Given the description of an element on the screen output the (x, y) to click on. 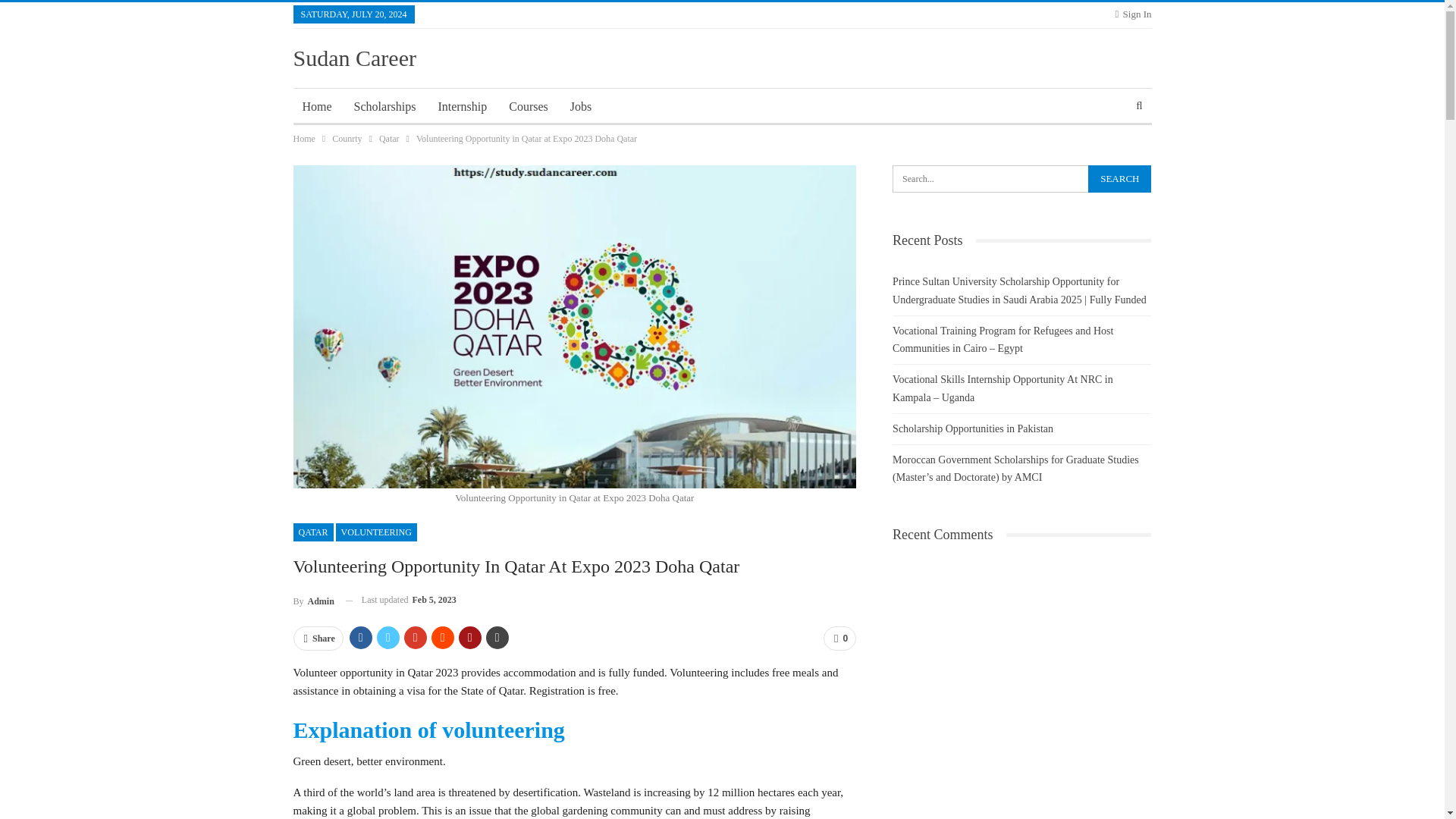
Search (1119, 178)
Counrty (346, 138)
QATAR (312, 532)
Sudan Career (353, 57)
Search (1119, 178)
0 (840, 638)
VOLUNTEERING (376, 532)
Qatar (388, 138)
Home (316, 106)
Sign In (1133, 13)
By Admin (312, 599)
Courses (528, 106)
Internship (462, 106)
Jobs (579, 106)
Browse Author Articles (312, 599)
